Given the description of an element on the screen output the (x, y) to click on. 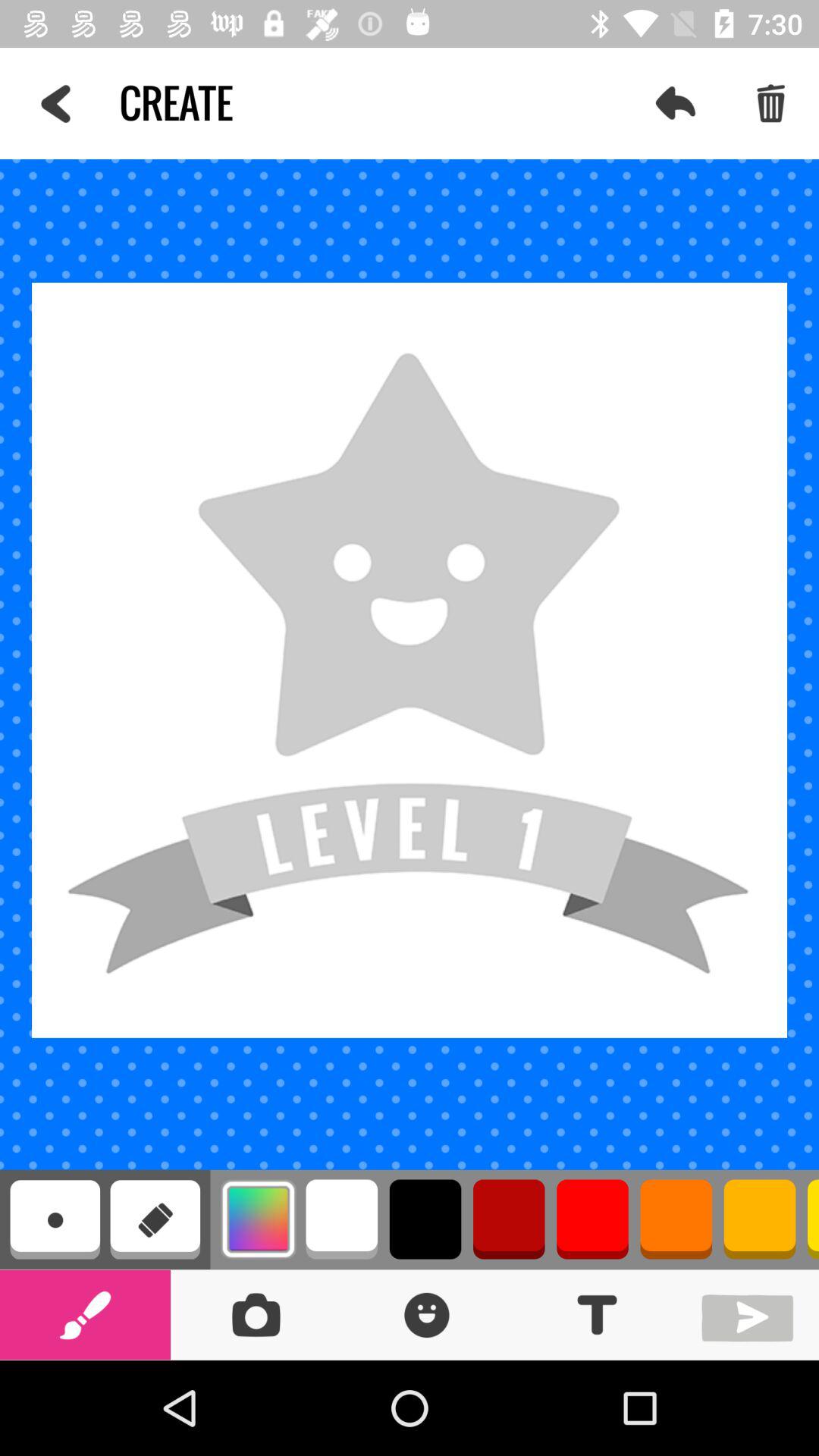
take picture (255, 1314)
